Given the description of an element on the screen output the (x, y) to click on. 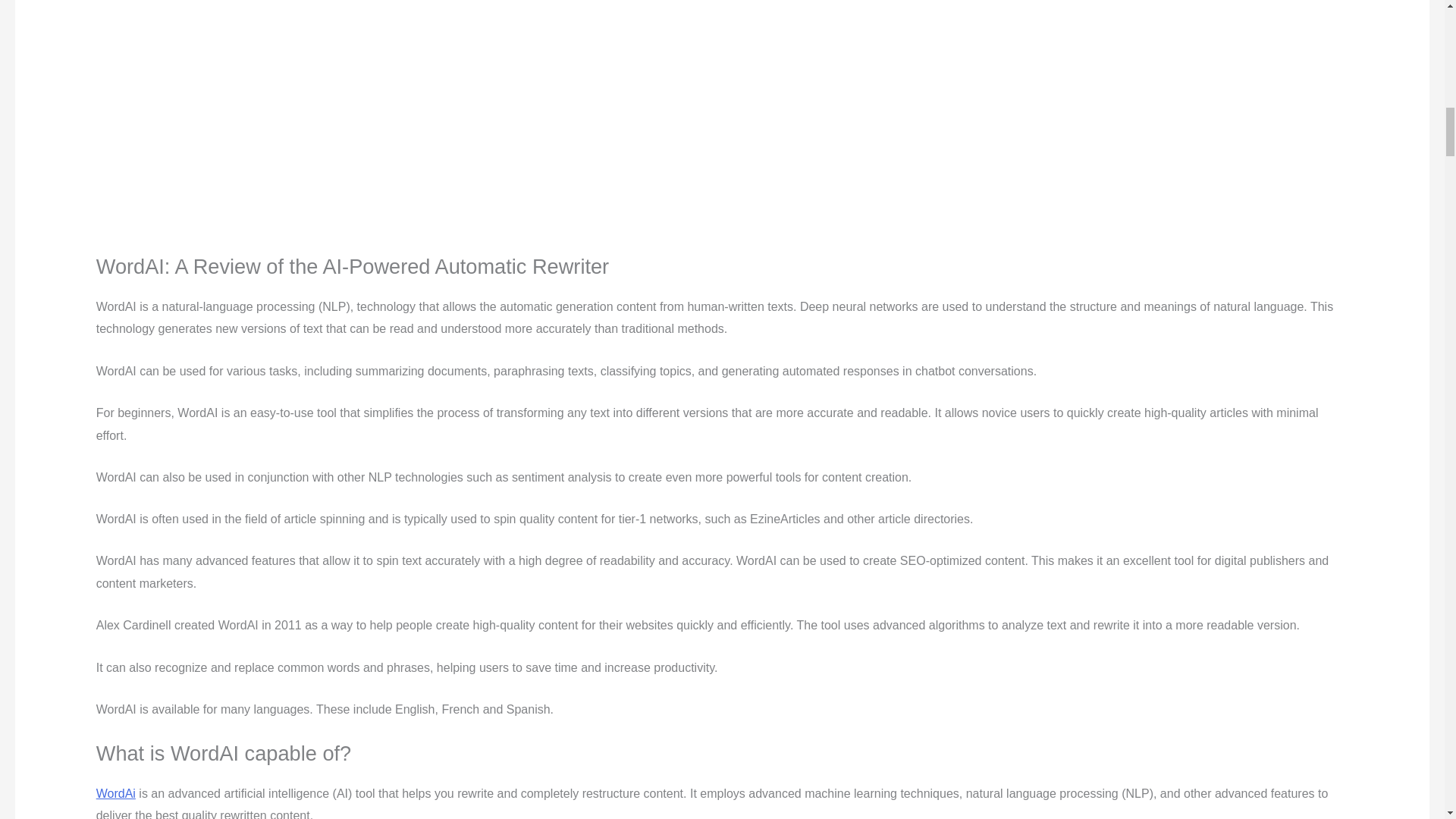
YouTube video player (308, 113)
WordAi (115, 793)
